Given the description of an element on the screen output the (x, y) to click on. 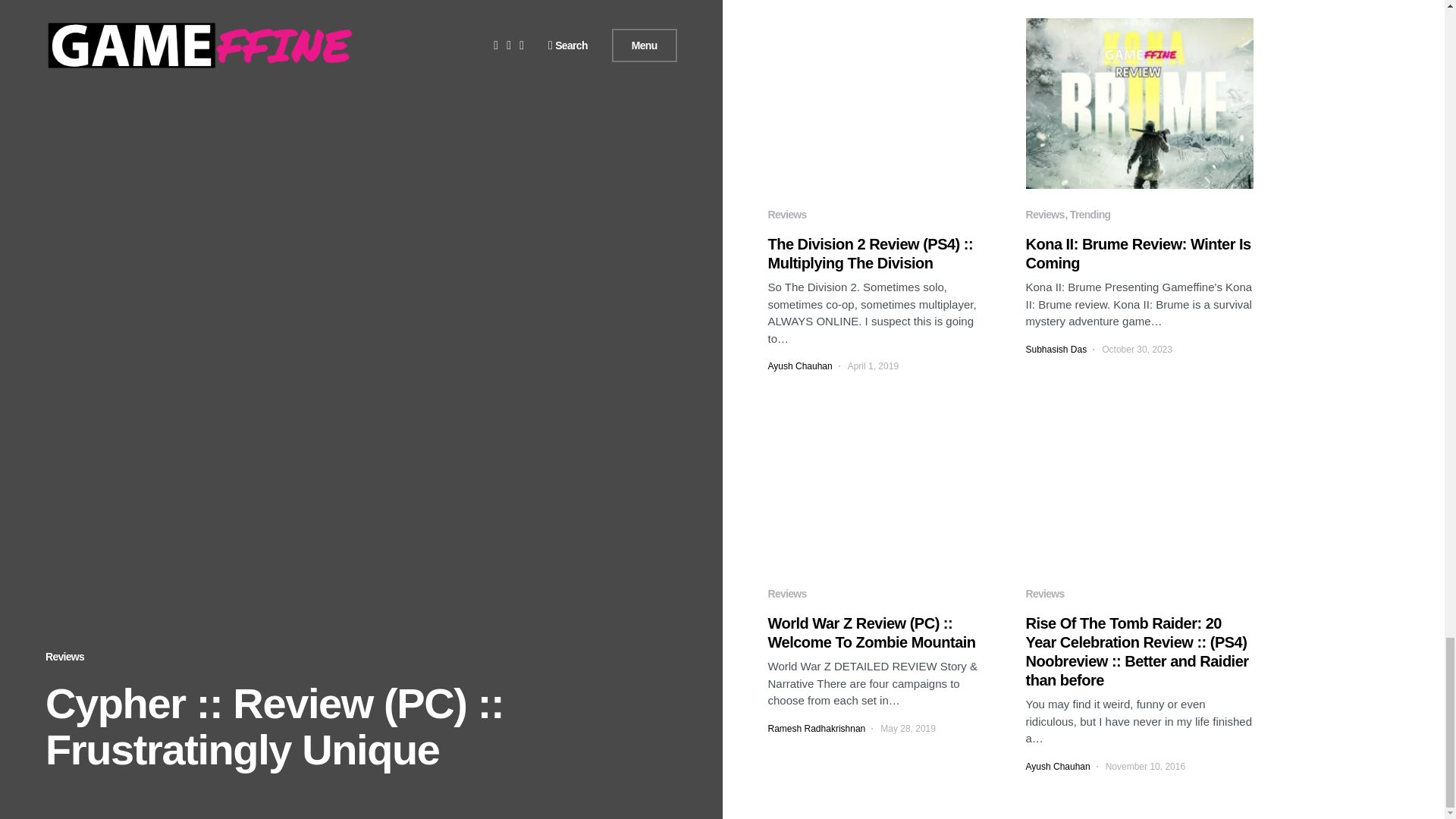
View all posts by Subhasish Das (1055, 349)
View all posts by Ayush Chauhan (1057, 766)
View all posts by Ramesh Radhakrishnan (815, 728)
View all posts by Ayush Chauhan (799, 366)
